Given the description of an element on the screen output the (x, y) to click on. 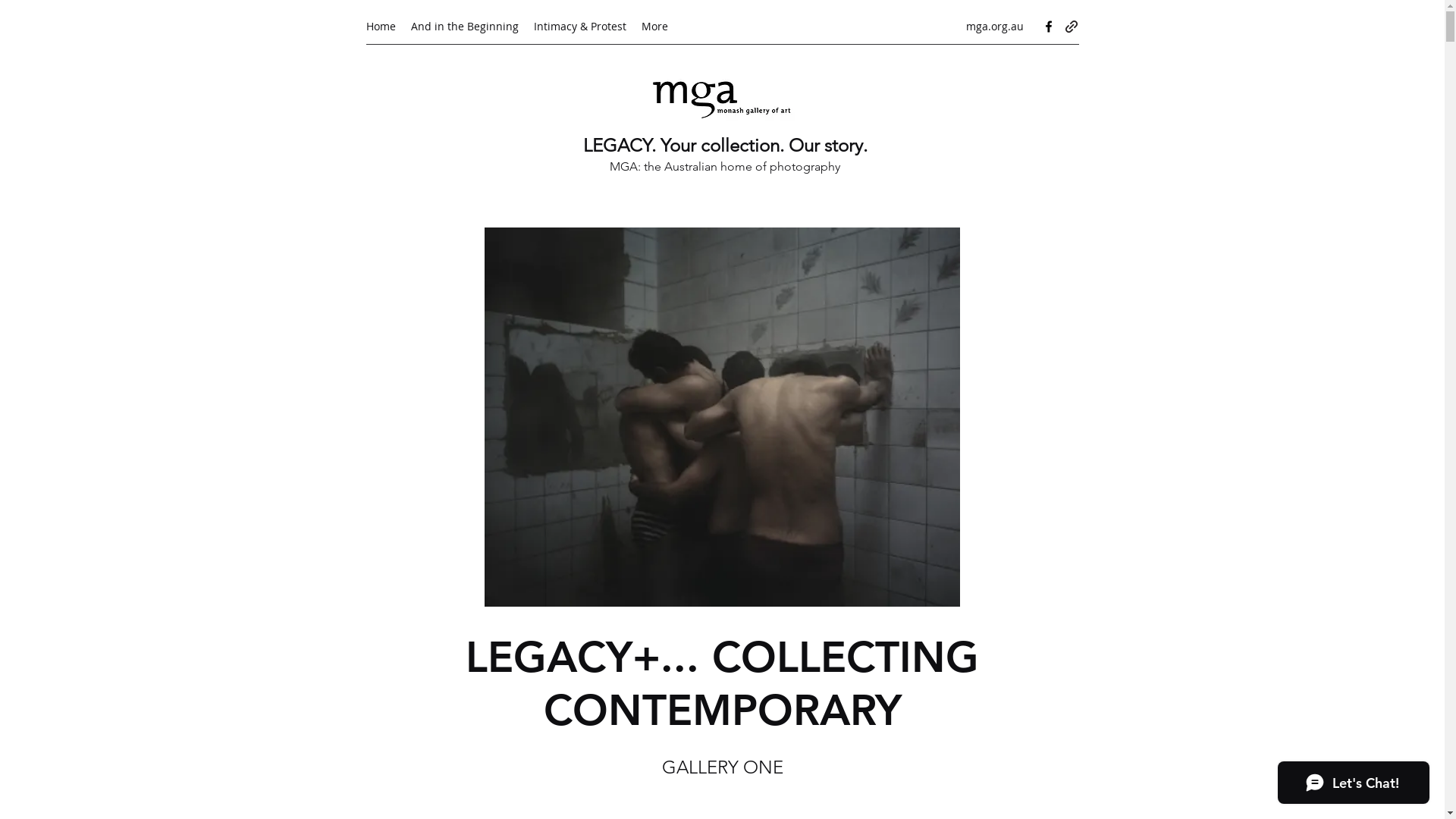
And in the Beginning Element type: text (464, 26)
Intimacy & Protest Element type: text (579, 26)
Home Element type: text (379, 26)
